Given the description of an element on the screen output the (x, y) to click on. 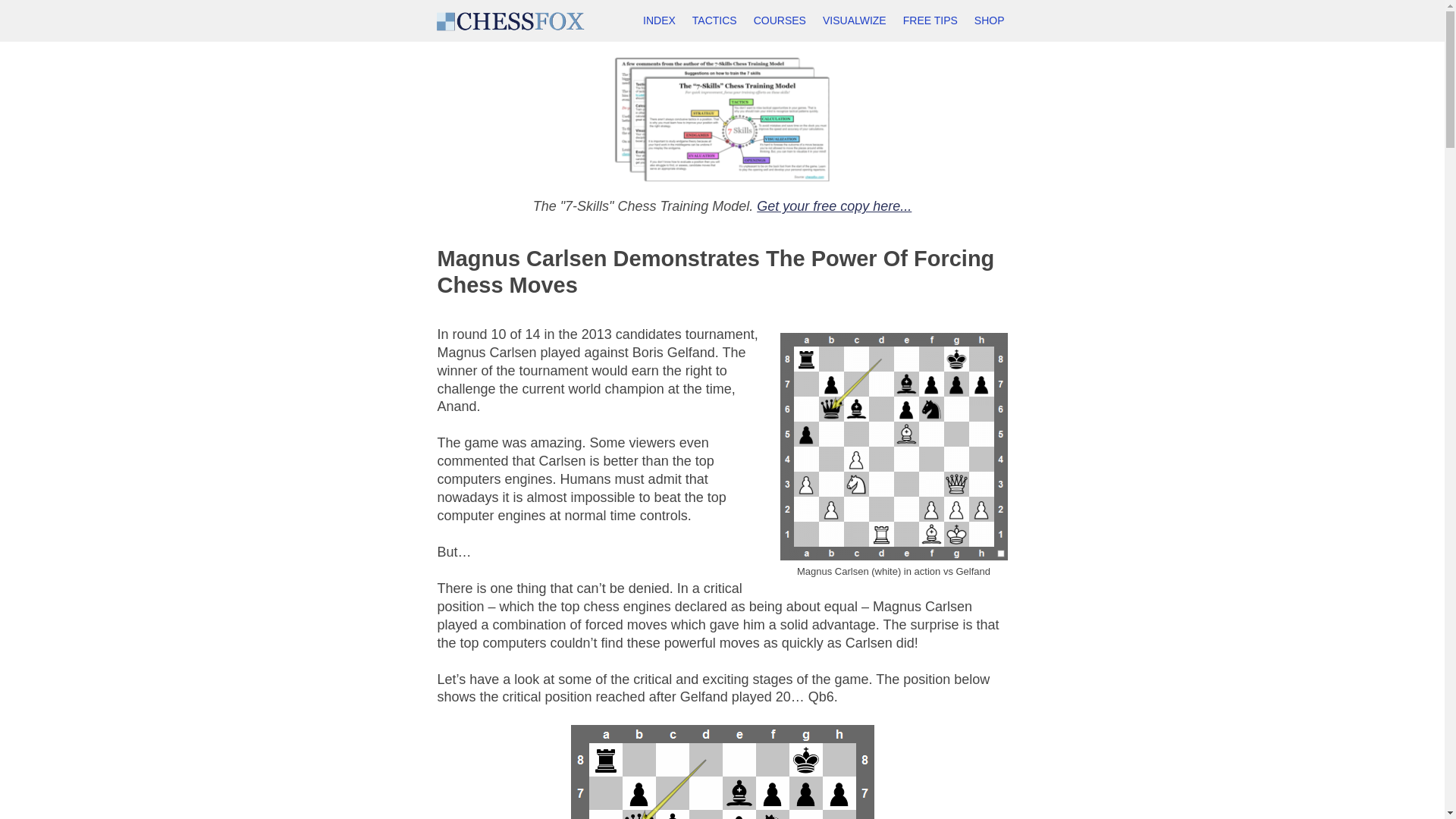
INDEX (659, 20)
TACTICS (714, 20)
Chess Training Products by Chessfox (989, 20)
Visualization training exercises (854, 20)
SHOP (989, 20)
Get your free copy here... (834, 206)
CHESSFOX.COM (509, 20)
List of chess training resources on chessfox.com (659, 20)
Chess Tactics (714, 20)
VISUALWIZE (854, 20)
COURSES (779, 20)
FREE TIPS (930, 20)
Free Chess Courses by Chessfox (779, 20)
